Given the description of an element on the screen output the (x, y) to click on. 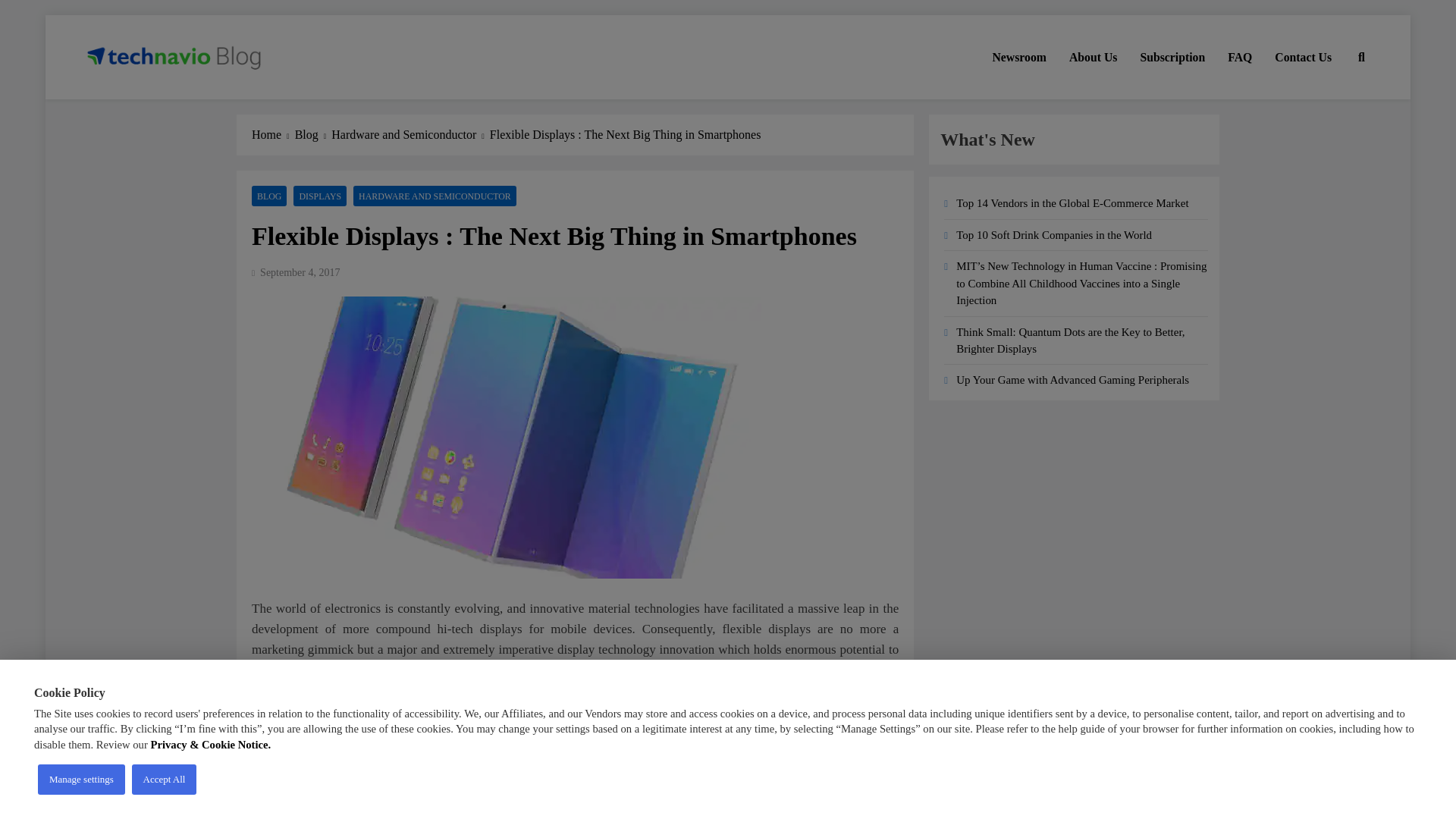
Up Your Game with Advanced Gaming Peripherals (1072, 379)
About Us (1093, 56)
DISPLAYS (320, 195)
Home (273, 135)
BLOG (268, 195)
FAQ (1239, 56)
Top 14 Vendors in the Global E-Commerce Market (1072, 203)
light, thin, and foldable (451, 669)
Newsroom (1019, 56)
Hardware and Semiconductor (410, 135)
